Given the description of an element on the screen output the (x, y) to click on. 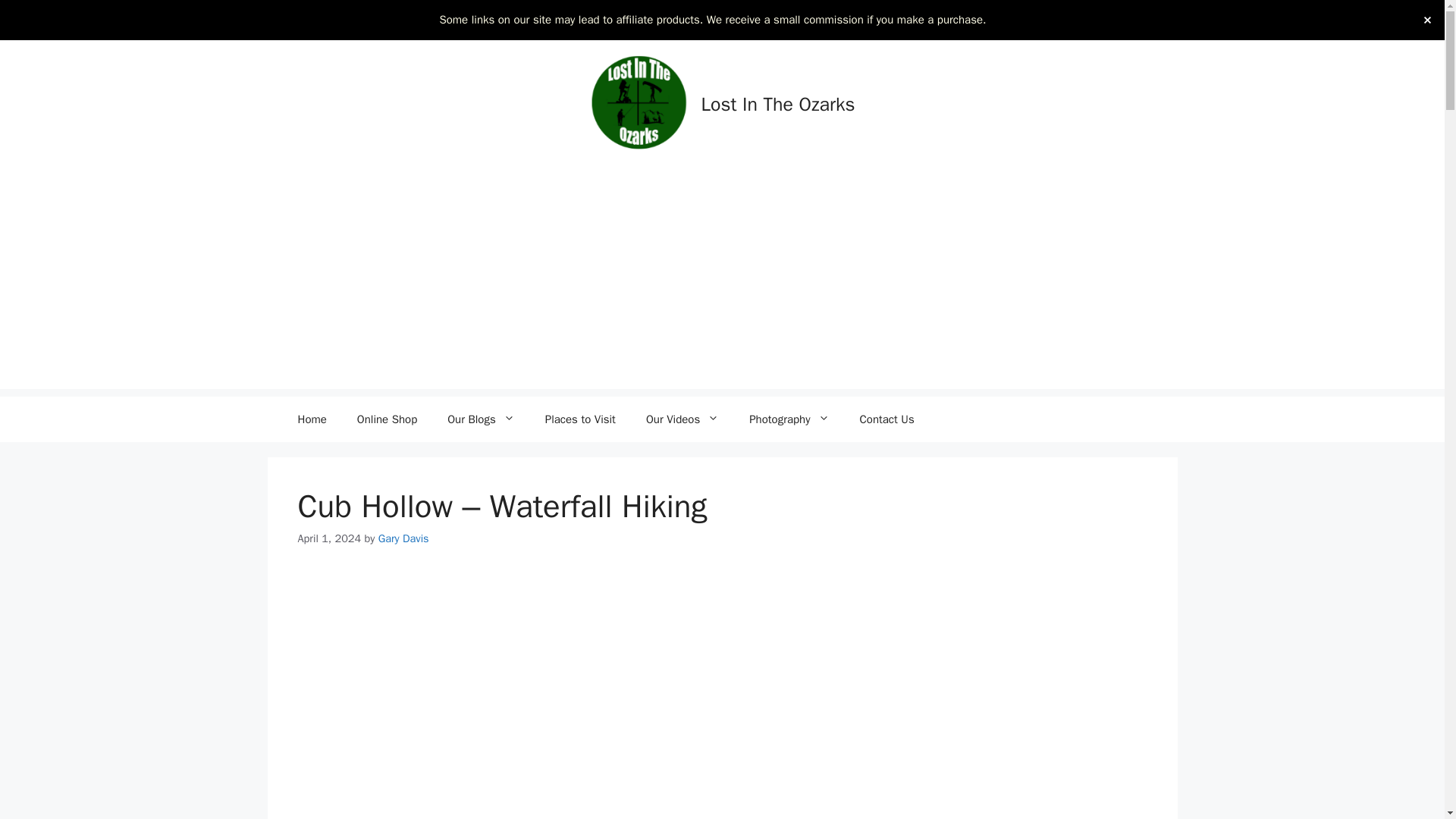
Lost In The Ozarks (778, 104)
Contact Us (887, 418)
Places to Visit (579, 418)
Gary Davis (403, 538)
Photography (788, 418)
Home (311, 418)
View all posts by Gary Davis (403, 538)
Our Blogs (480, 418)
